Given the description of an element on the screen output the (x, y) to click on. 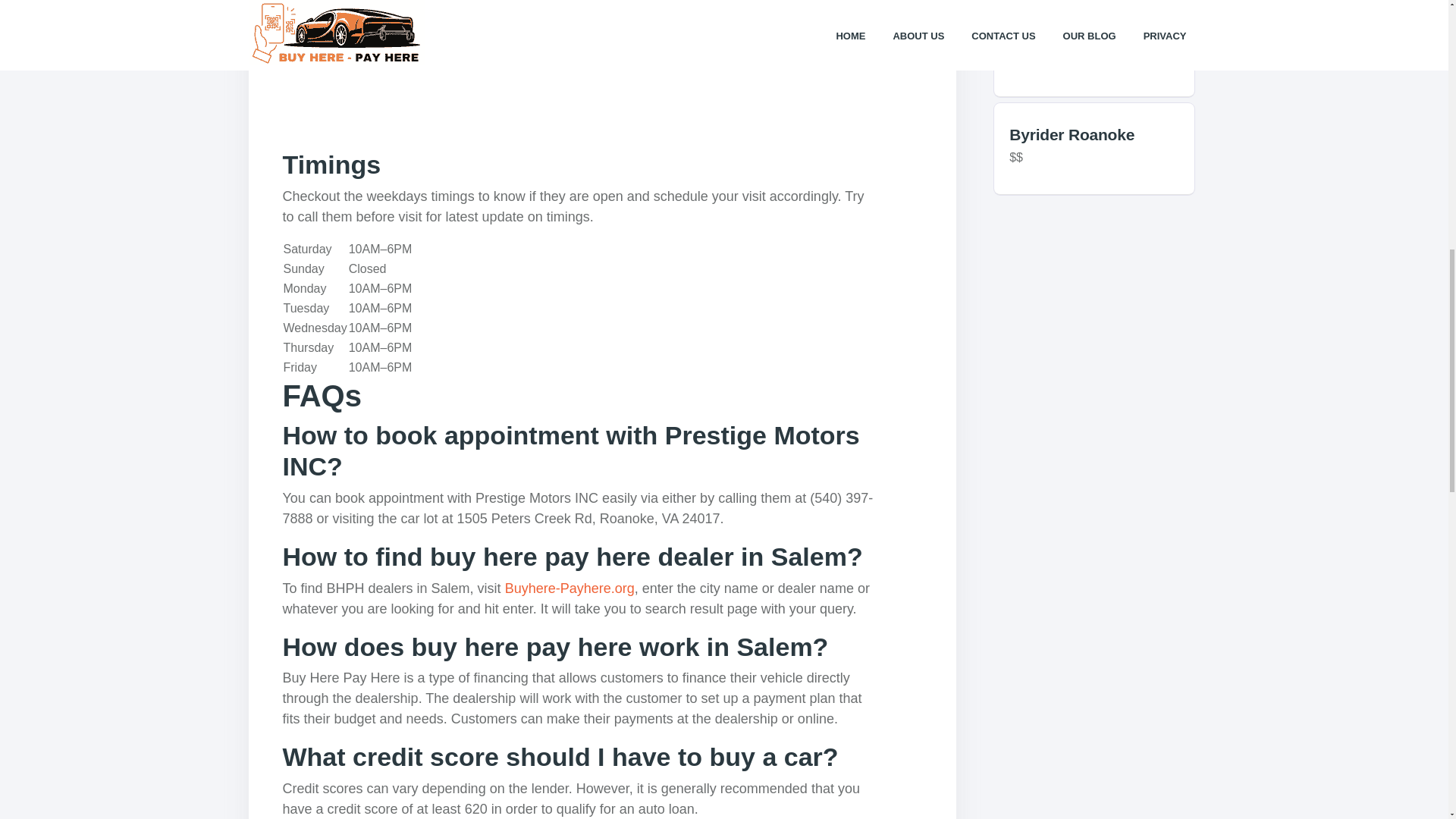
Buyhere-Payhere.org (569, 588)
